Given the description of an element on the screen output the (x, y) to click on. 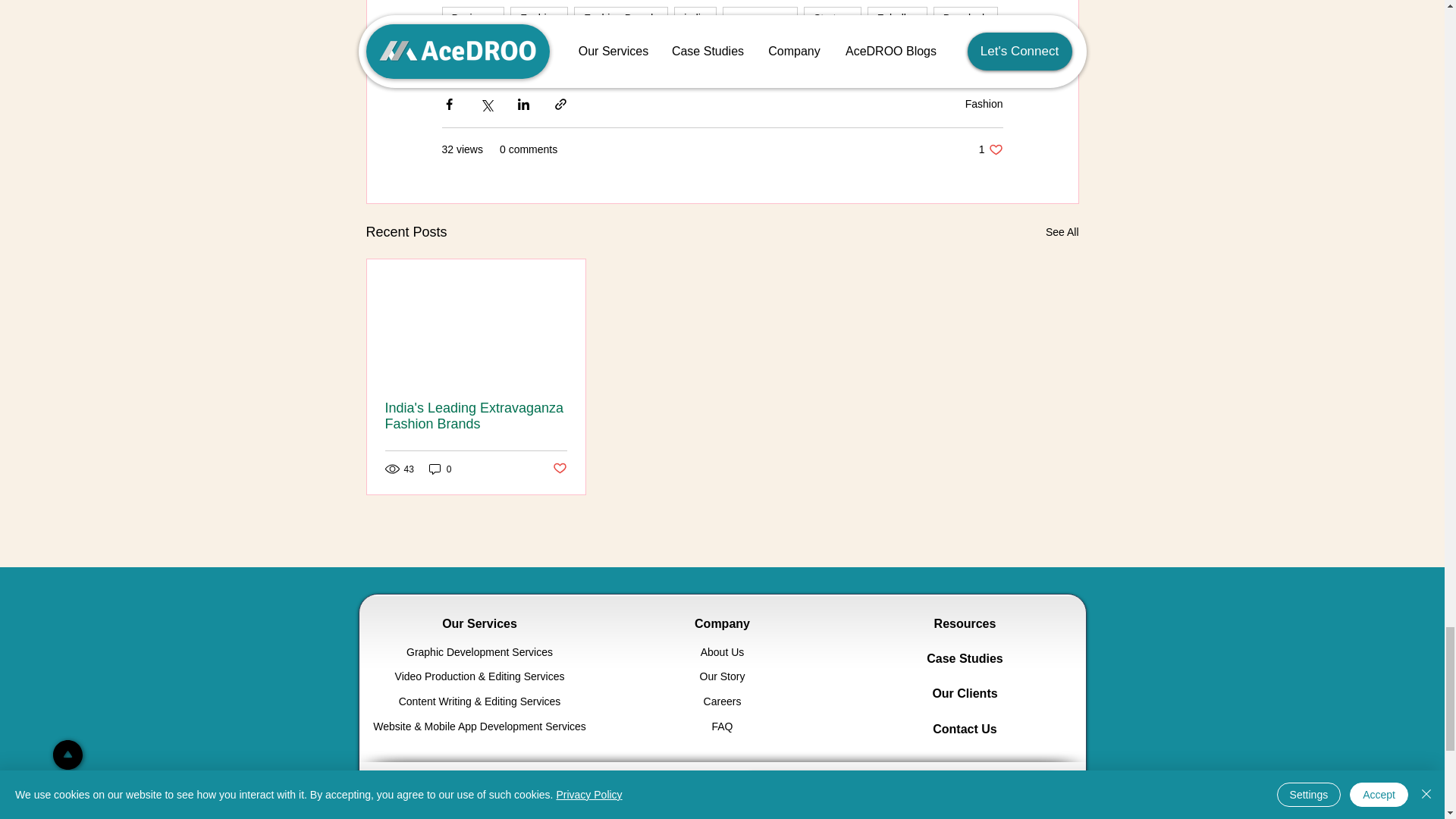
Vajor (462, 47)
Business (472, 17)
india (695, 17)
Alcis Sports (529, 47)
Fashion Brands (620, 17)
Original on Transparent - Copy.png (543, 805)
Fashion (539, 17)
Faballey (897, 17)
ecommerce (759, 17)
Berrylush (965, 17)
